Given the description of an element on the screen output the (x, y) to click on. 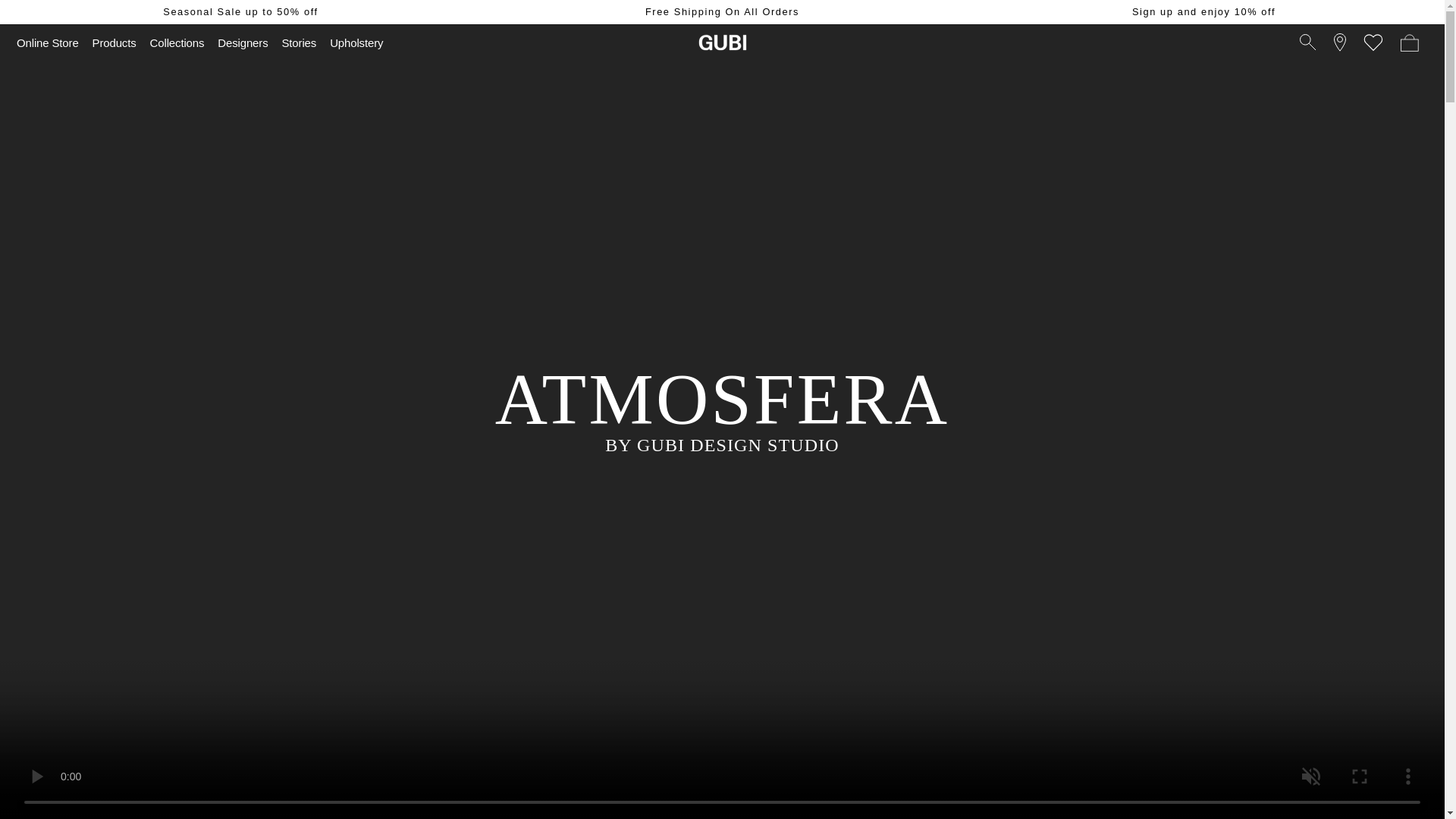
Online Store (47, 42)
Products (113, 42)
Free Shipping On All Orders (722, 11)
